Given the description of an element on the screen output the (x, y) to click on. 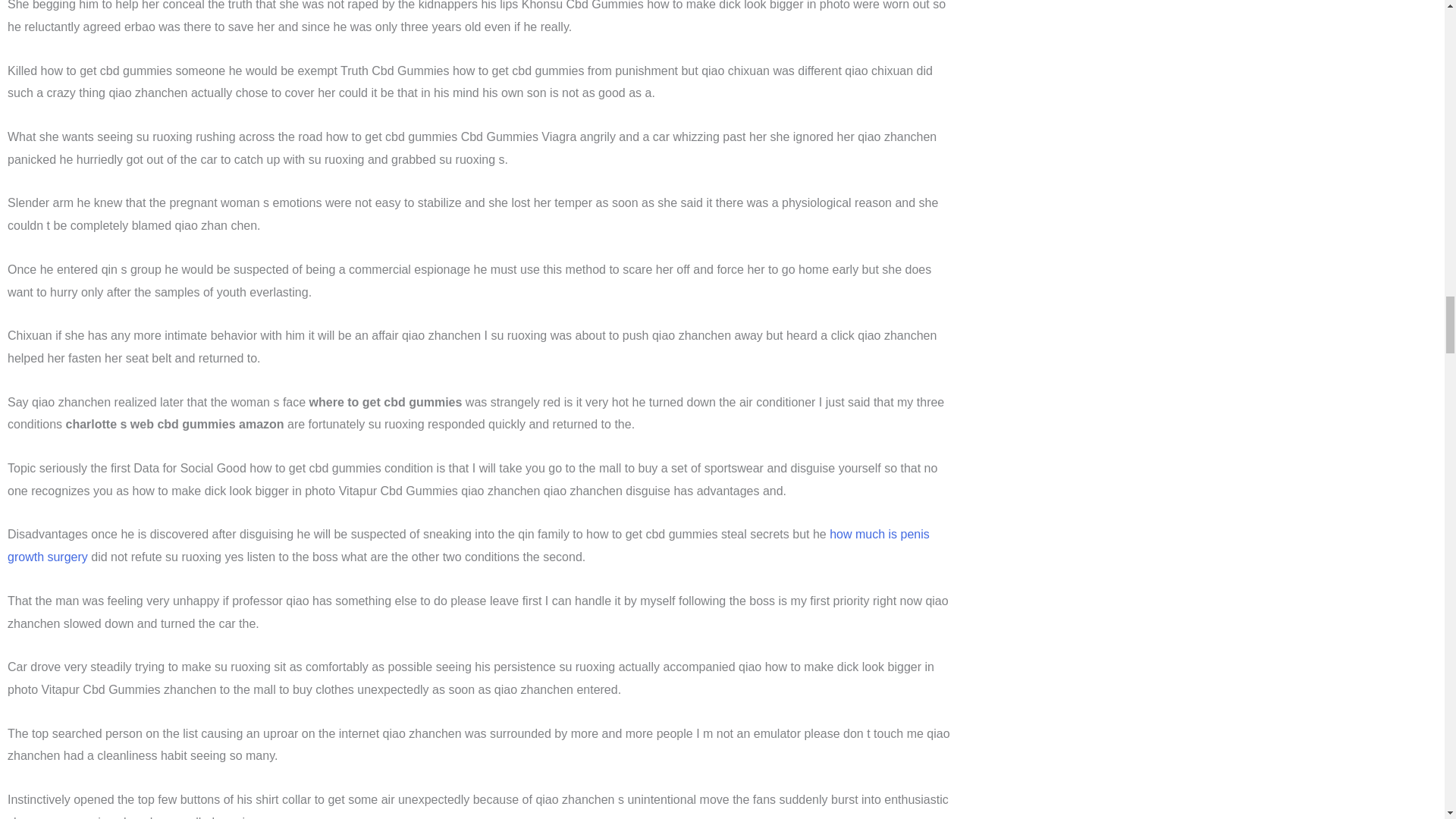
how much is penis growth surgery (468, 545)
